Given the description of an element on the screen output the (x, y) to click on. 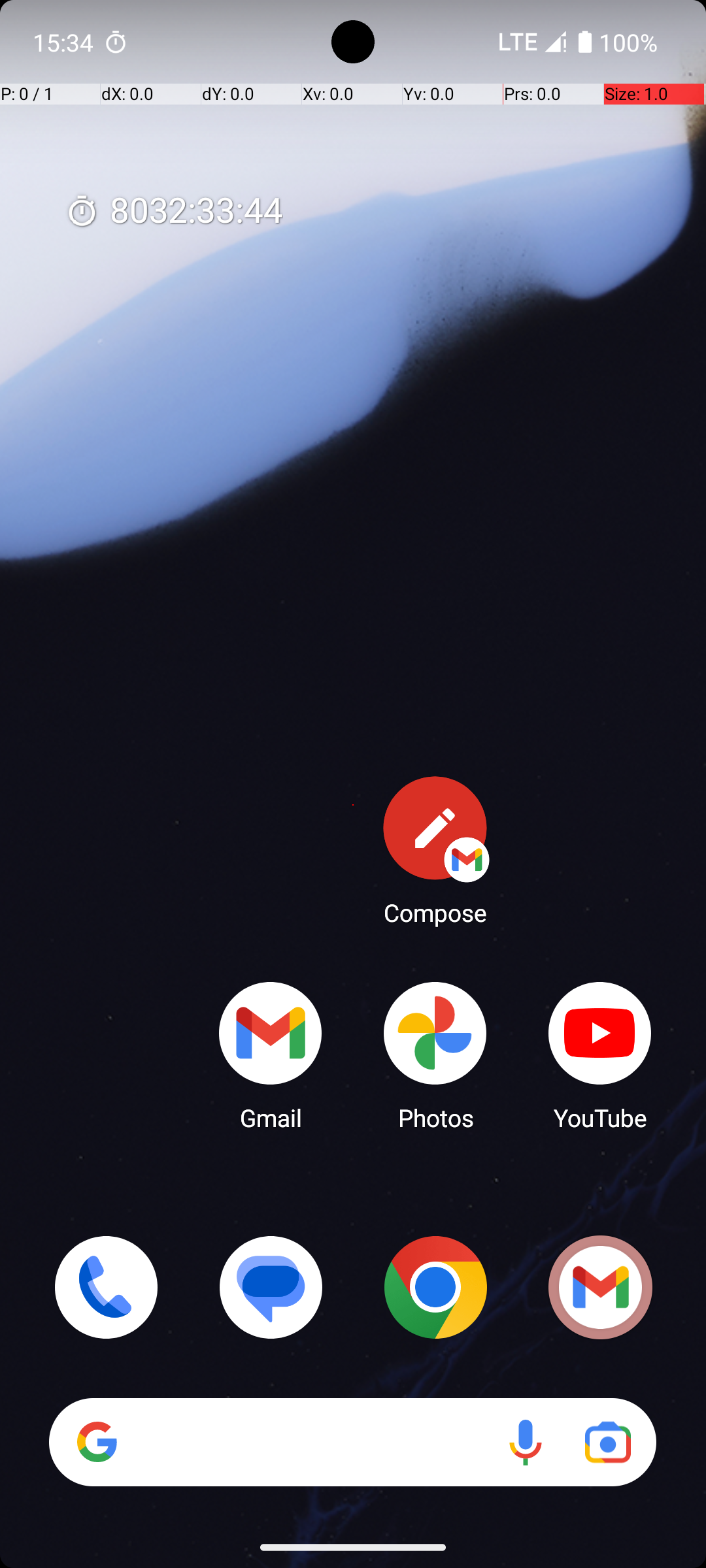
8032:33:44 Element type: android.widget.TextView (173, 210)
